Given the description of an element on the screen output the (x, y) to click on. 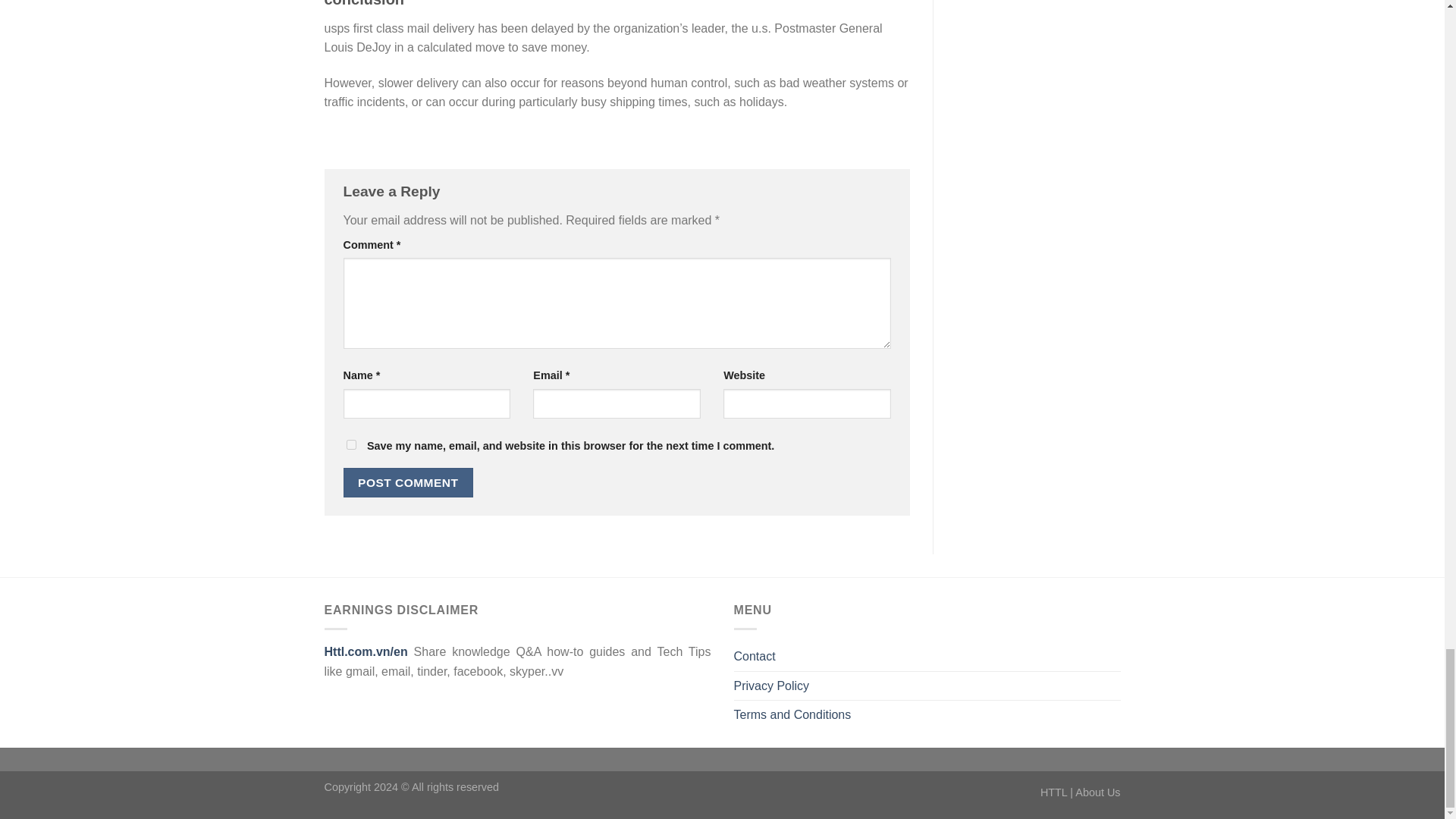
Privacy Policy (771, 685)
Terms and Conditions (792, 715)
Post Comment (407, 482)
Post Comment (407, 482)
yes (350, 444)
HTTL (1054, 792)
Contact (754, 656)
About Us (1097, 792)
